Given the description of an element on the screen output the (x, y) to click on. 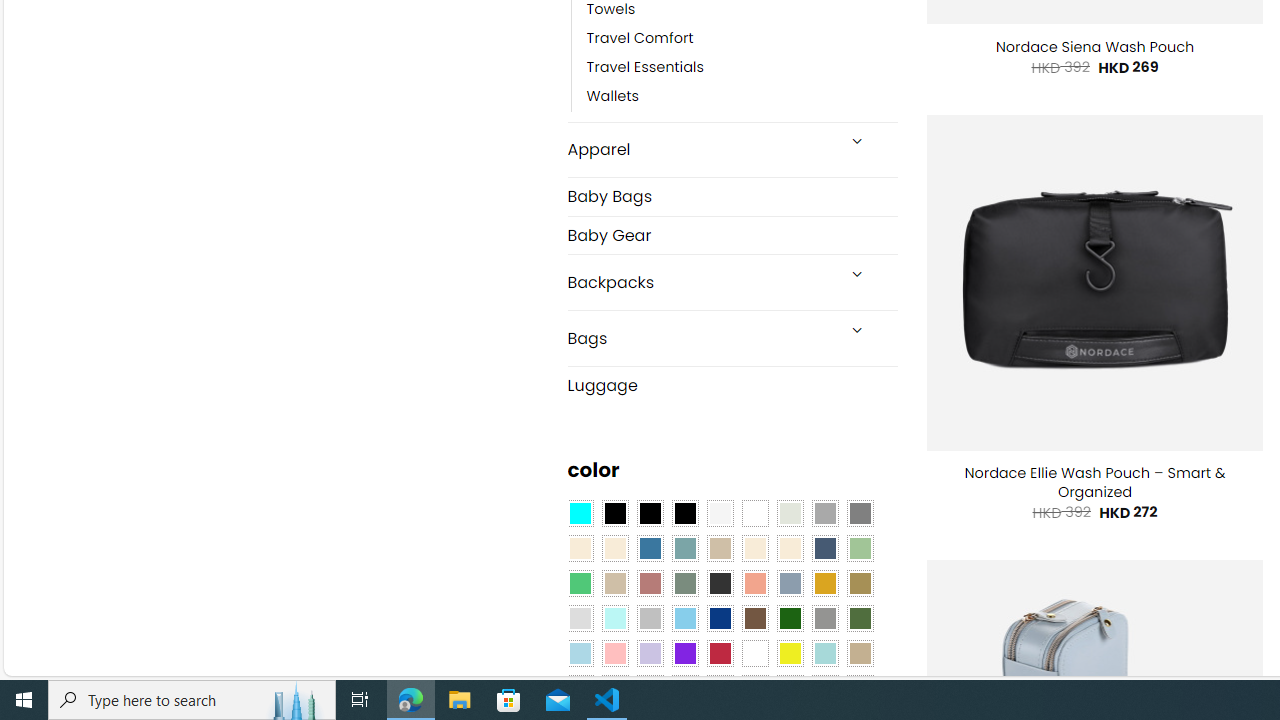
Travel Comfort (639, 38)
Aqua (824, 653)
Sky Blue (684, 619)
Emerald Green (579, 583)
Yellow (789, 653)
Red (719, 653)
Black-Brown (684, 514)
